Given the description of an element on the screen output the (x, y) to click on. 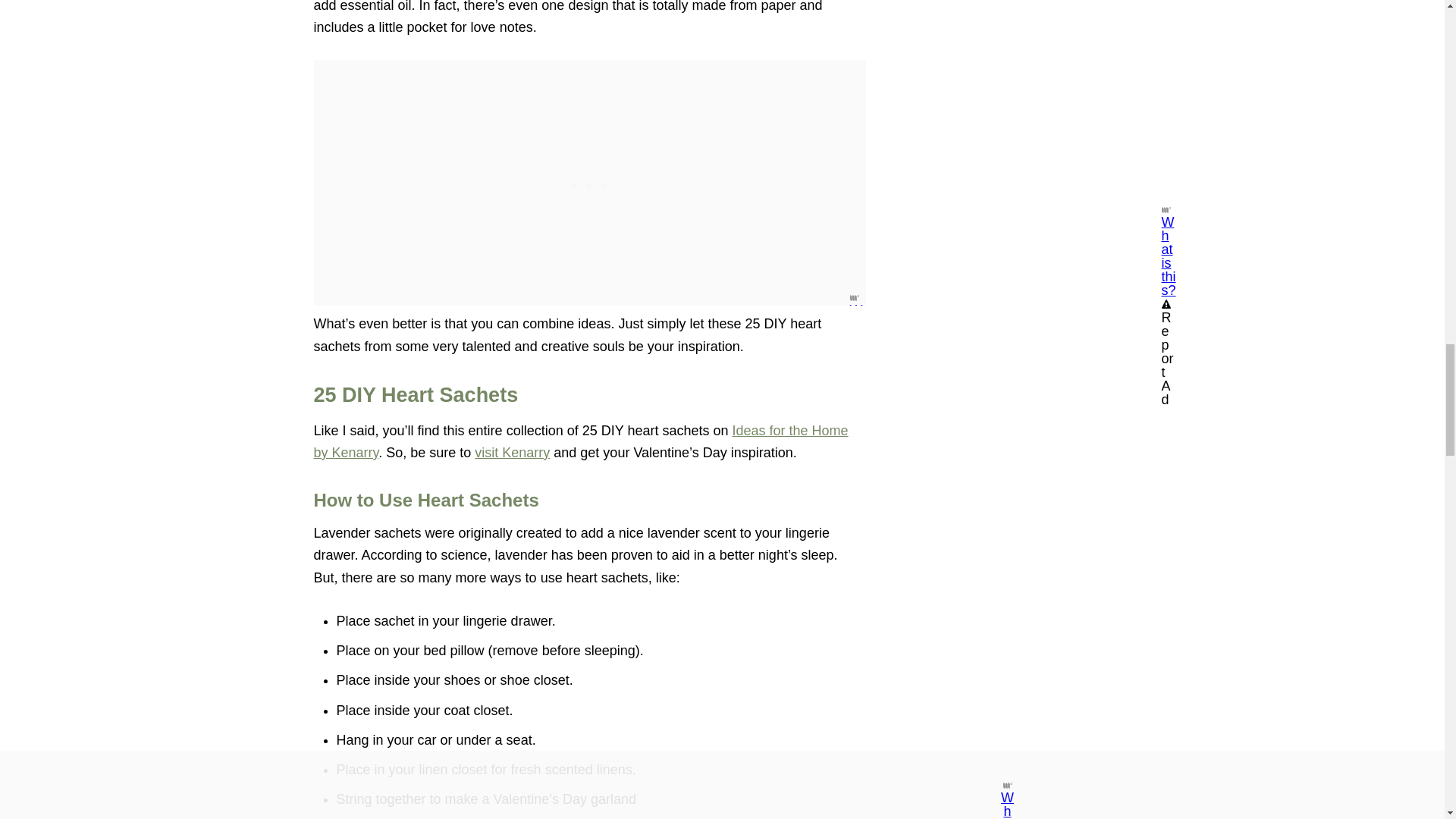
3rd party ad content (590, 182)
